Given the description of an element on the screen output the (x, y) to click on. 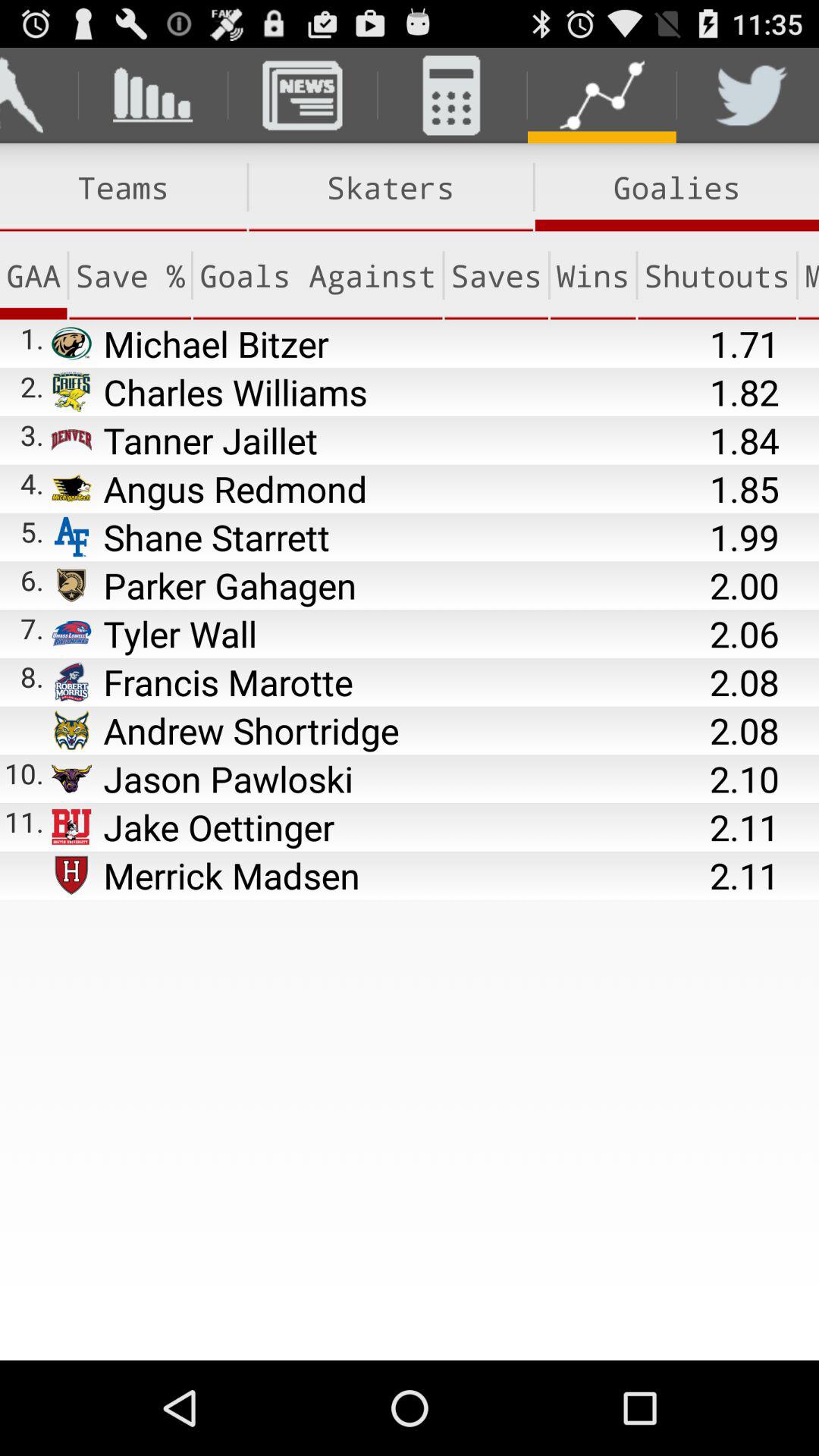
press item to the left of goalies item (390, 187)
